Given the description of an element on the screen output the (x, y) to click on. 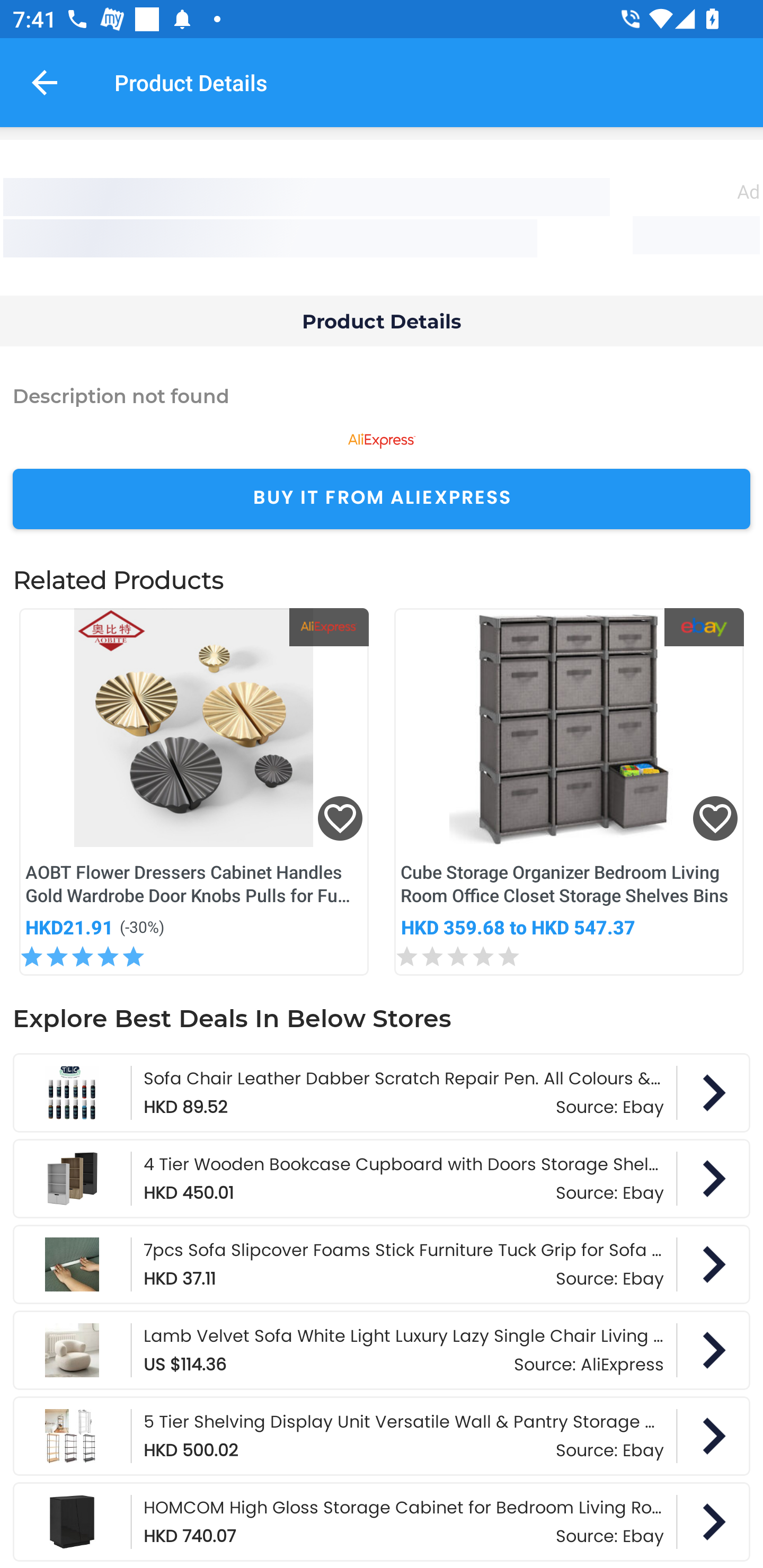
Navigate up (44, 82)
Description not found (381, 394)
BUY IT FROM ALIEXPRESS (381, 499)
